Given the description of an element on the screen output the (x, y) to click on. 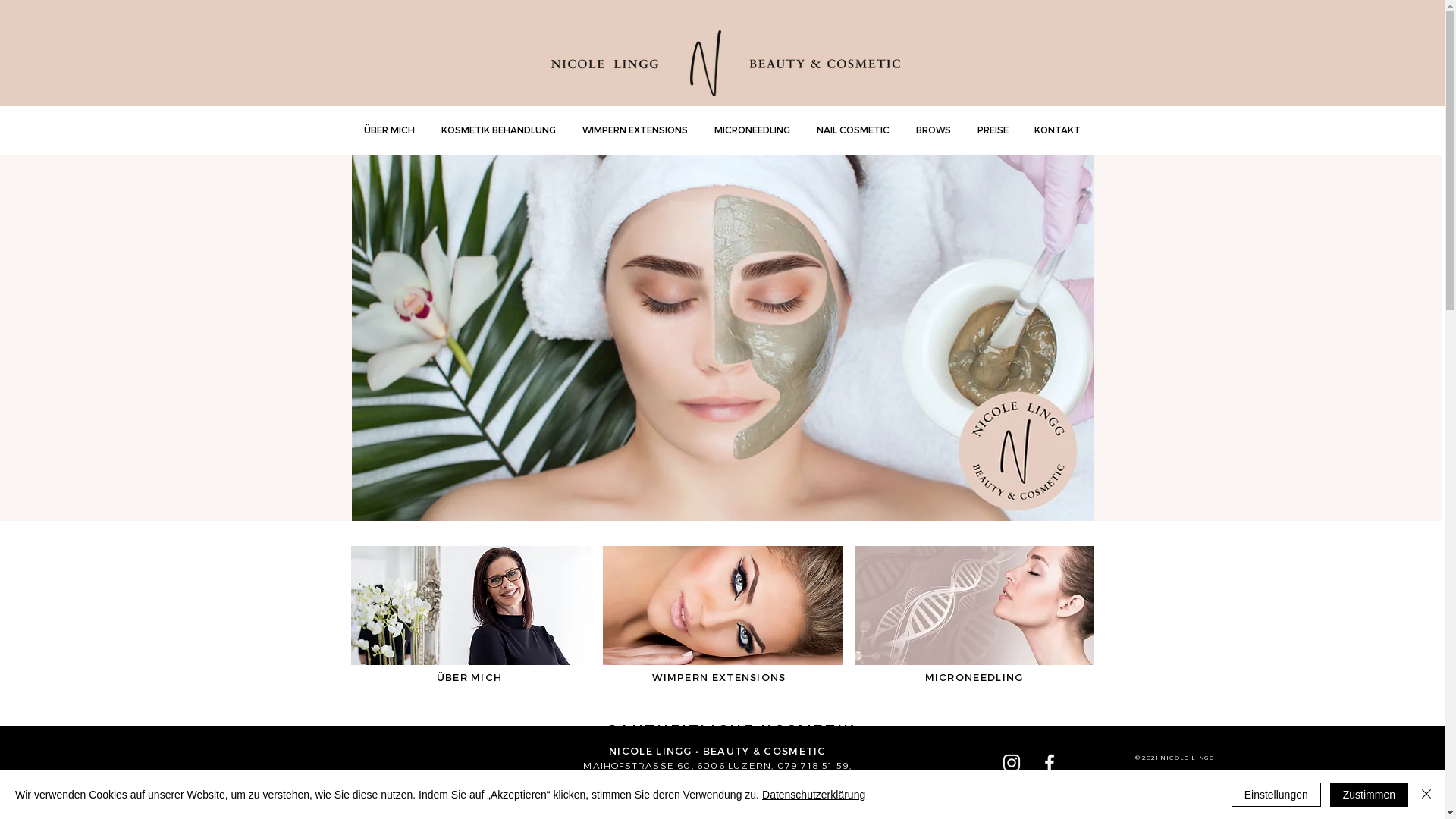
WIMPERN EXTENSIONS Element type: text (634, 129)
Einstellungen Element type: text (1276, 794)
MICRONEEDLING Element type: text (751, 129)
NAIL COSMETIC Element type: text (853, 129)
PREISE Element type: text (992, 129)
Zustimmen Element type: text (1369, 794)
079 718 51 59 Element type: text (813, 764)
BROWS Element type: text (932, 129)
KONTAKT Element type: text (1056, 129)
KOSMETIK BEHANDLUNG Element type: text (497, 129)
